Given the description of an element on the screen output the (x, y) to click on. 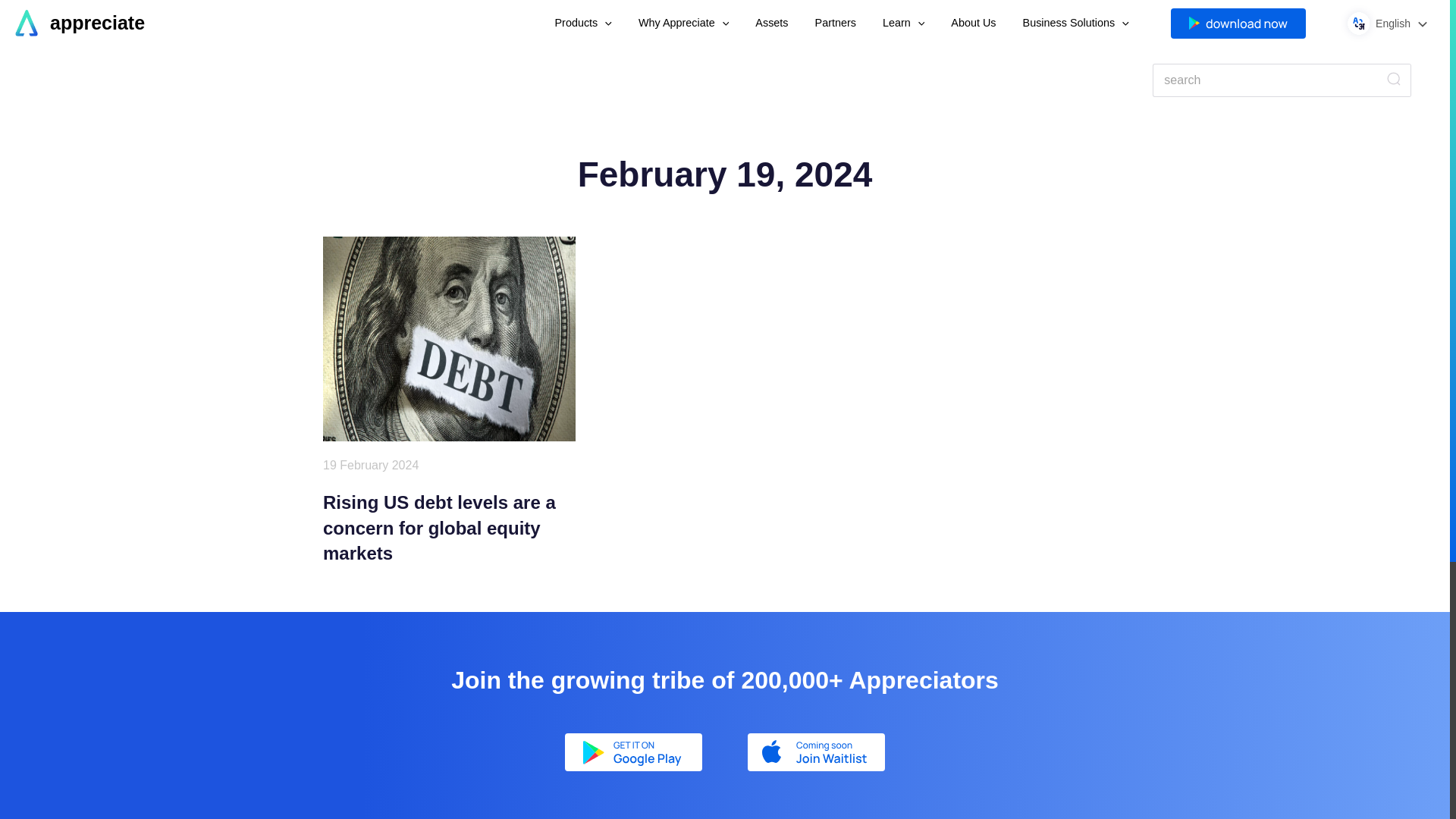
English (1400, 23)
Business Solutions (1076, 23)
Assets (771, 23)
Products (582, 23)
Partners (835, 23)
Why Appreciate (684, 23)
appreciate (96, 22)
Learn (903, 23)
About Us (972, 23)
